Given the description of an element on the screen output the (x, y) to click on. 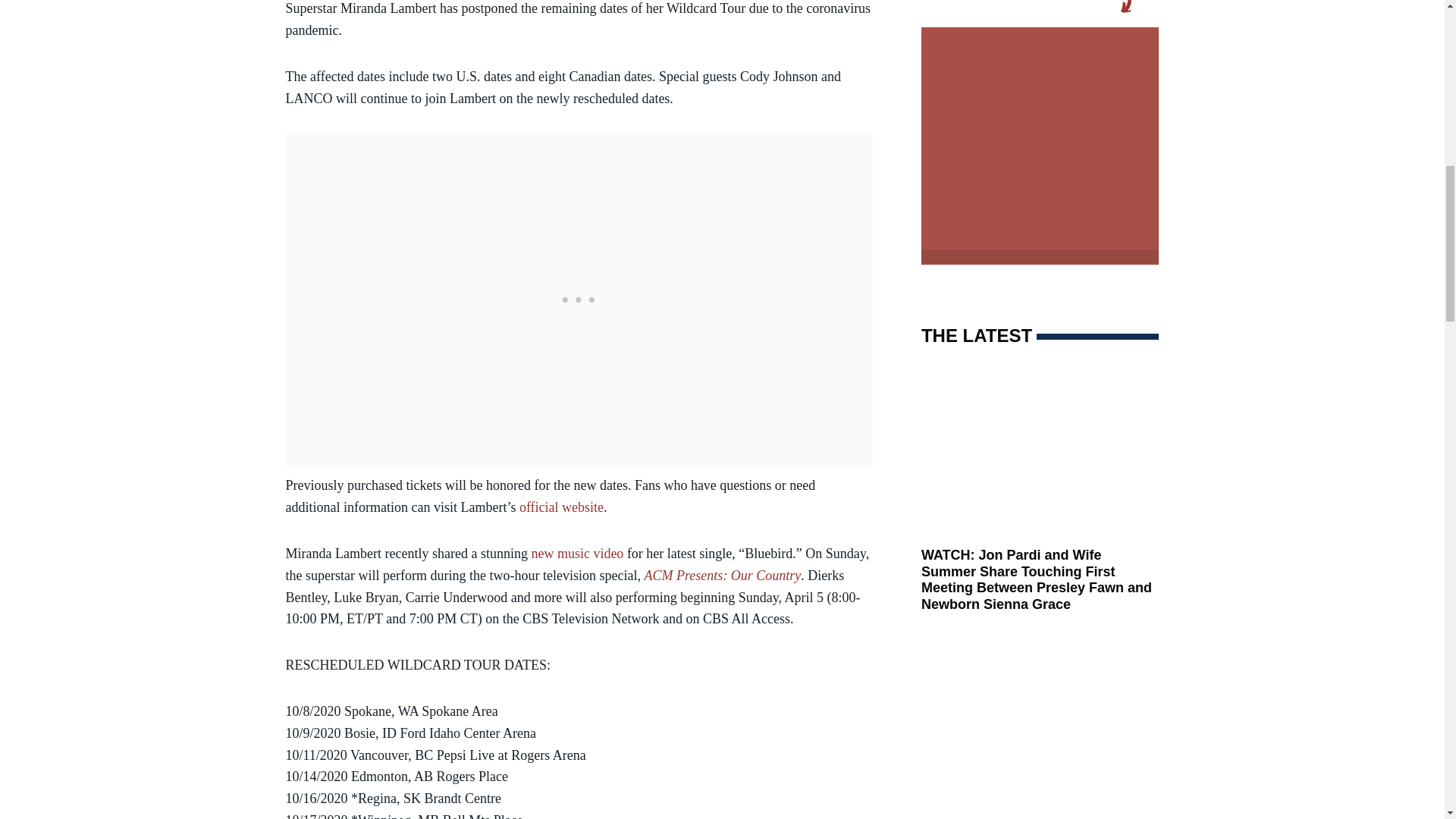
ACM Presents: Our Country (721, 575)
new music video (577, 553)
official website (561, 507)
